Given the description of an element on the screen output the (x, y) to click on. 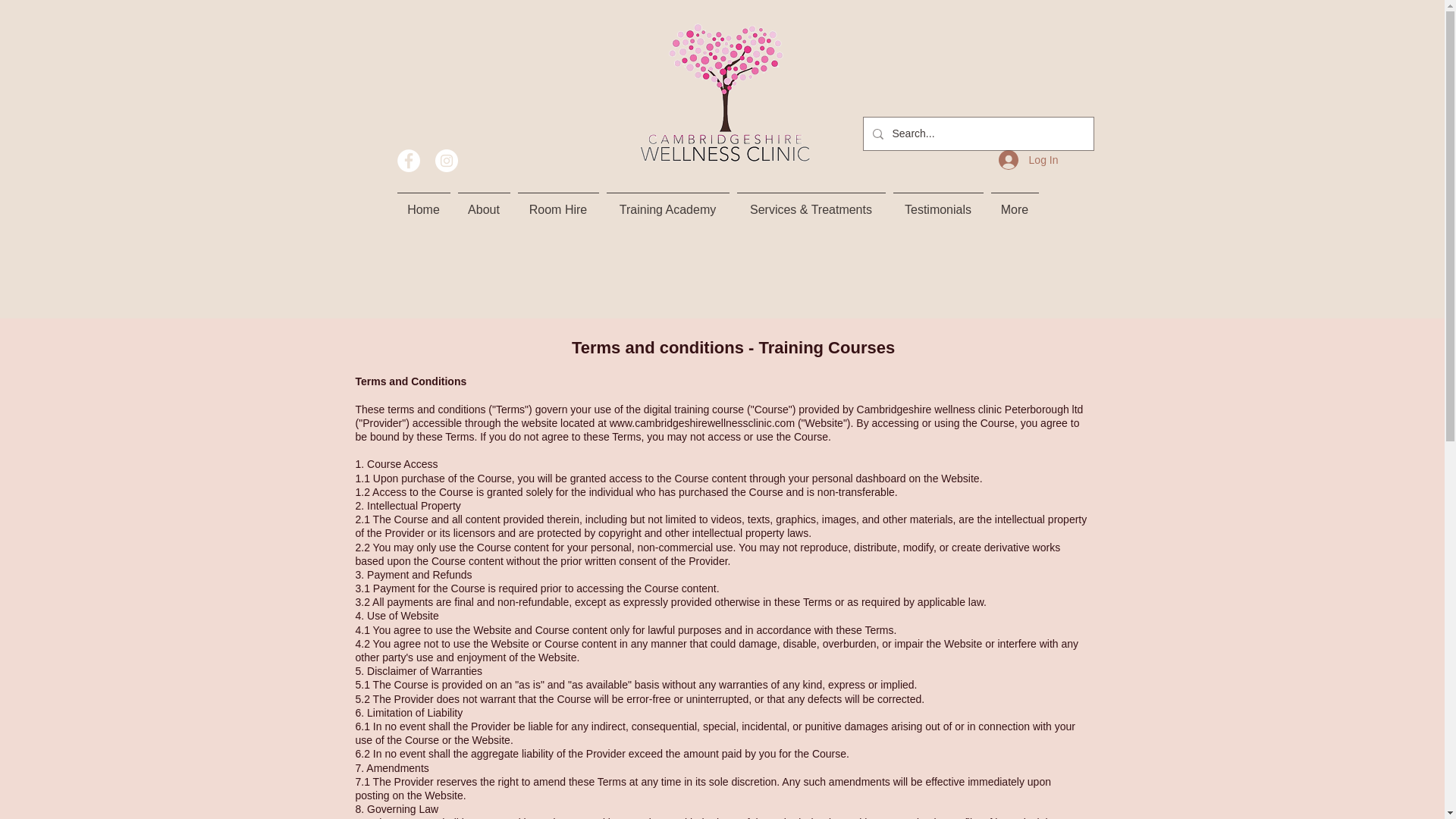
Log In (1028, 159)
Testimonials (937, 202)
www.cambridgeshirewellnessclinic.com (702, 422)
About (482, 202)
Home (422, 202)
Training Academy (667, 202)
